Given the description of an element on the screen output the (x, y) to click on. 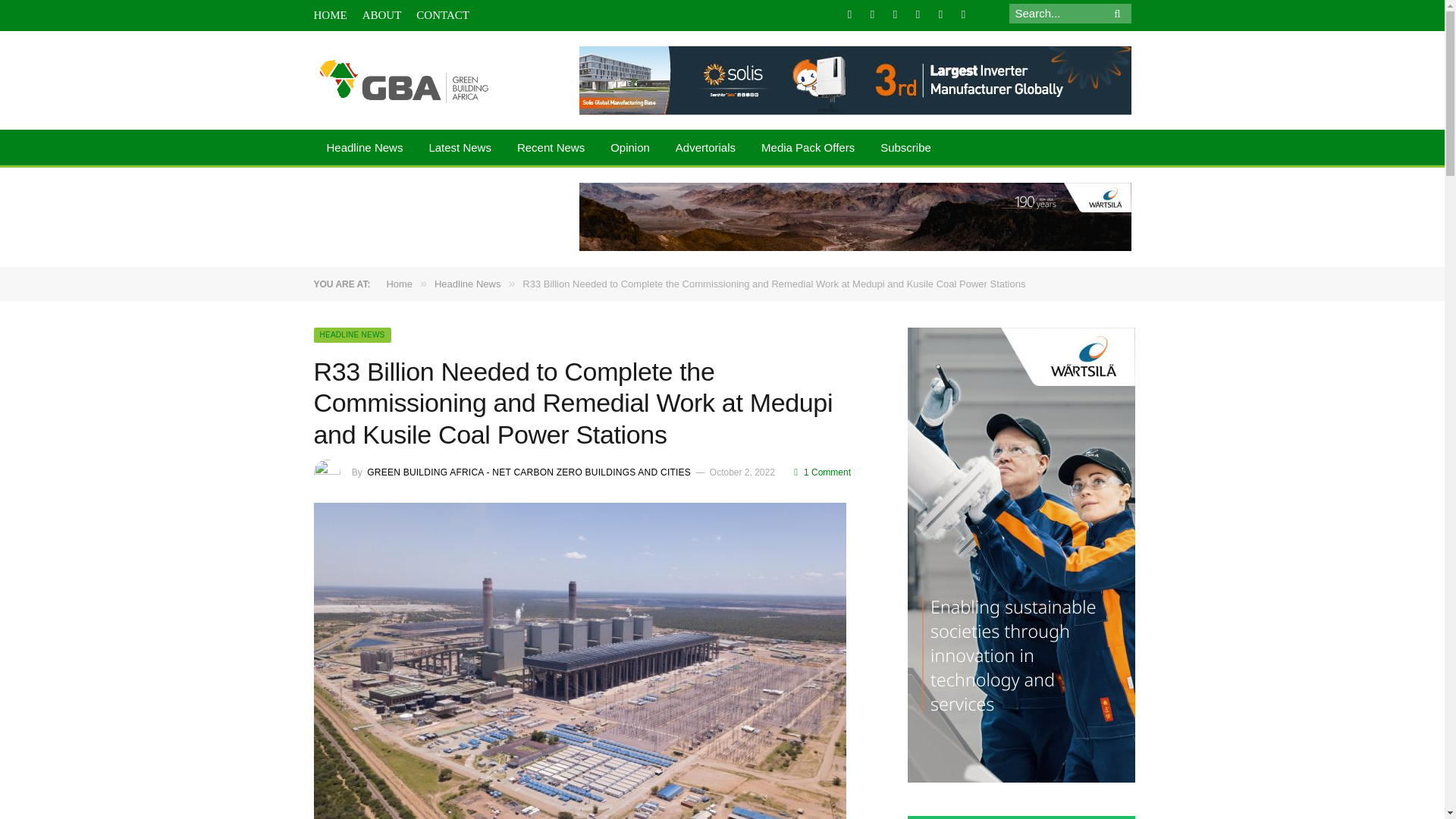
Opinion (629, 148)
Instagram (917, 14)
ABOUT (381, 15)
Green Building Africa (404, 79)
LinkedIn (894, 14)
Facebook (849, 14)
Pinerest (940, 14)
Advertorials (705, 148)
YouTube (963, 14)
LinkedIn (894, 14)
CONTACT (442, 15)
Solis 2023 728X90 (855, 80)
YouTube (963, 14)
HOME (330, 15)
Instagram (917, 14)
